Given the description of an element on the screen output the (x, y) to click on. 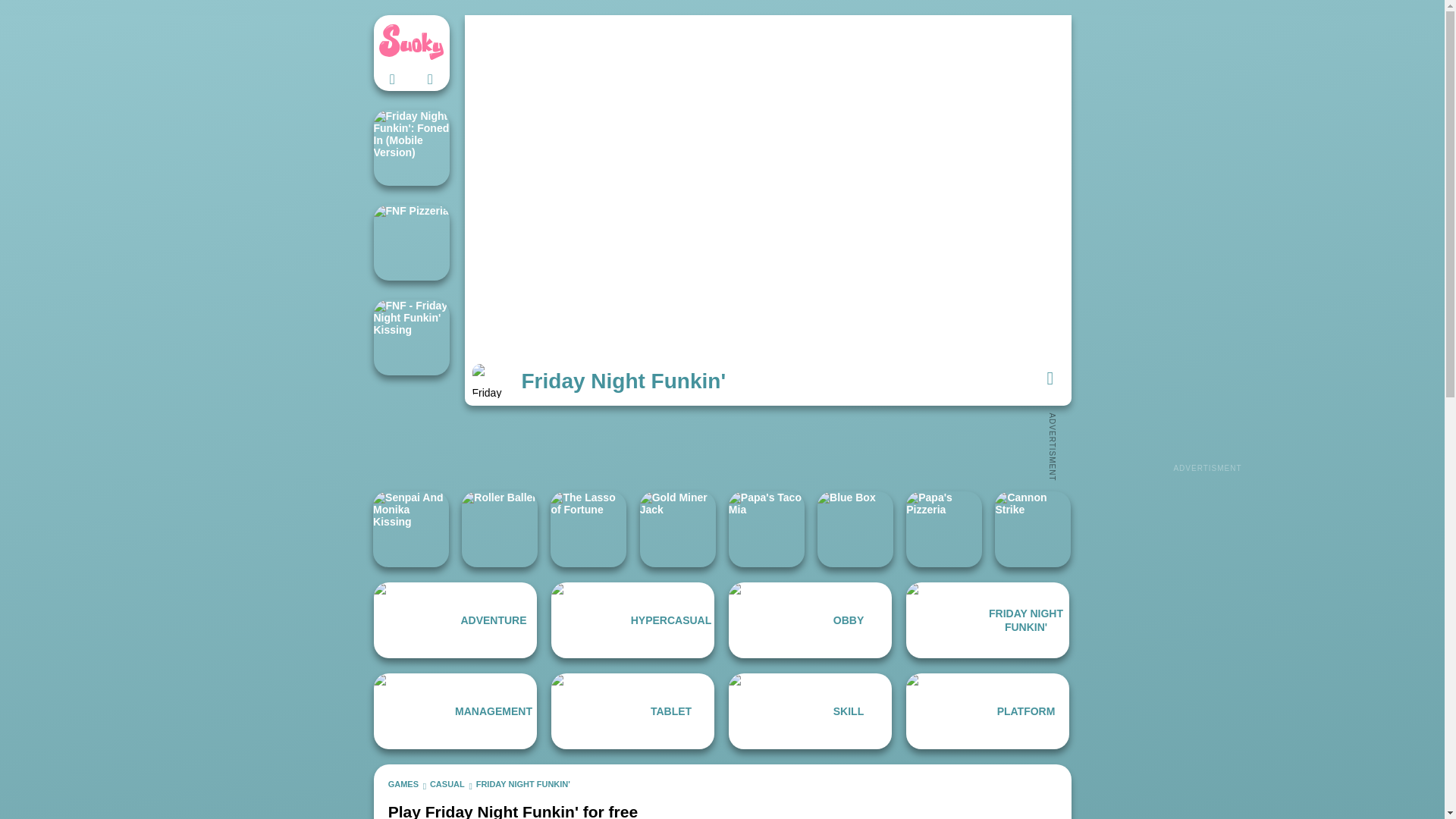
Friday Night Funkin' (986, 620)
Adventure (455, 620)
Papa's Pizzeria (943, 529)
ADVENTURE (455, 620)
FRIDAY NIGHT FUNKIN' (523, 783)
OBBY (810, 620)
TABLET (632, 711)
GAMES (403, 783)
Fullscreen (1050, 378)
FNF Pizzeria (410, 242)
MANAGEMENT (455, 711)
Blue Box (854, 529)
Tablet (632, 711)
Cannon Strike (1032, 529)
HYPERCASUAL (632, 620)
